Given the description of an element on the screen output the (x, y) to click on. 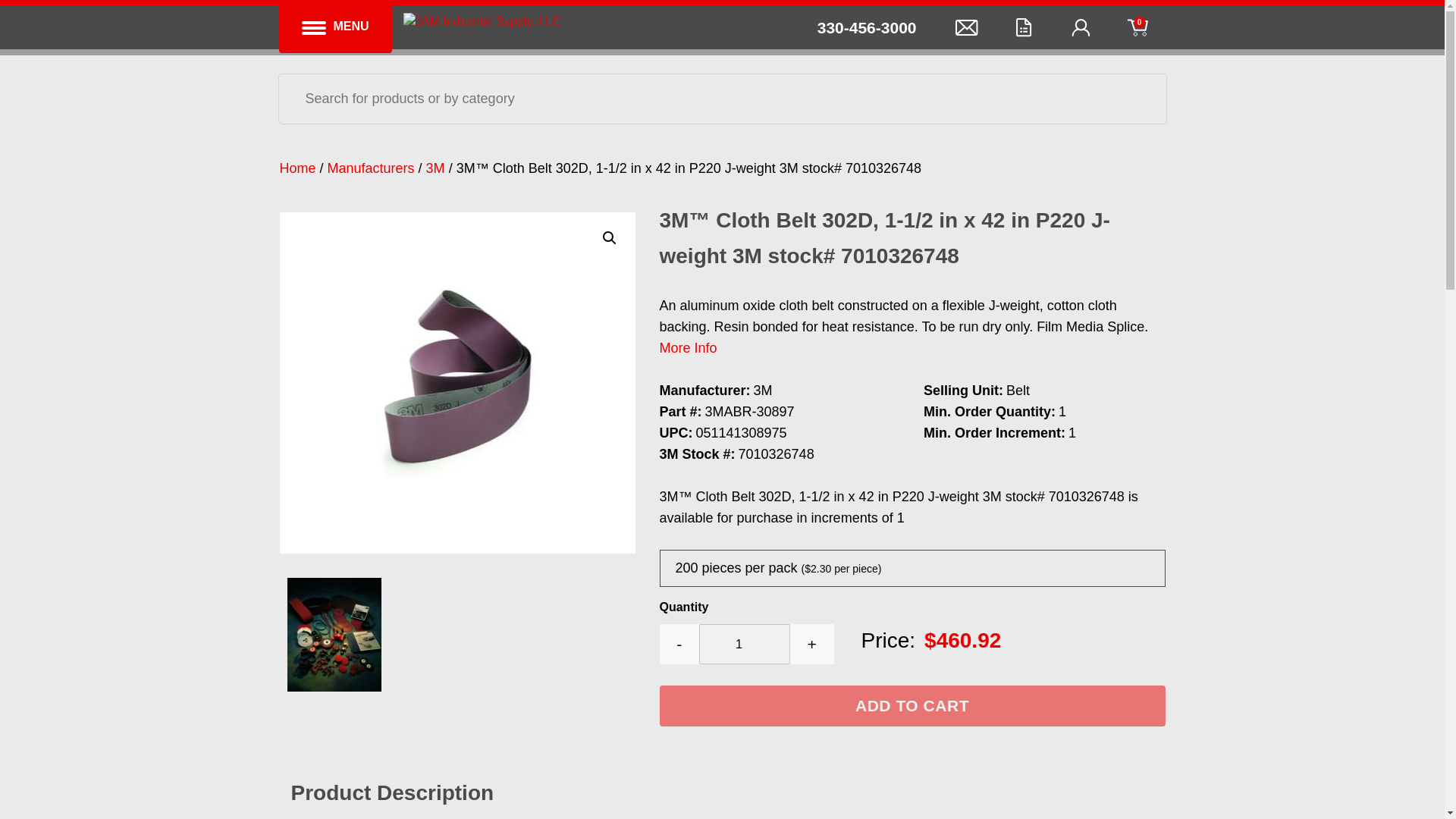
330-456-3000 (866, 27)
Search Articles (1140, 100)
1 (744, 644)
0 (1165, 27)
Search Articles (1140, 100)
Search Articles (1140, 100)
